Given the description of an element on the screen output the (x, y) to click on. 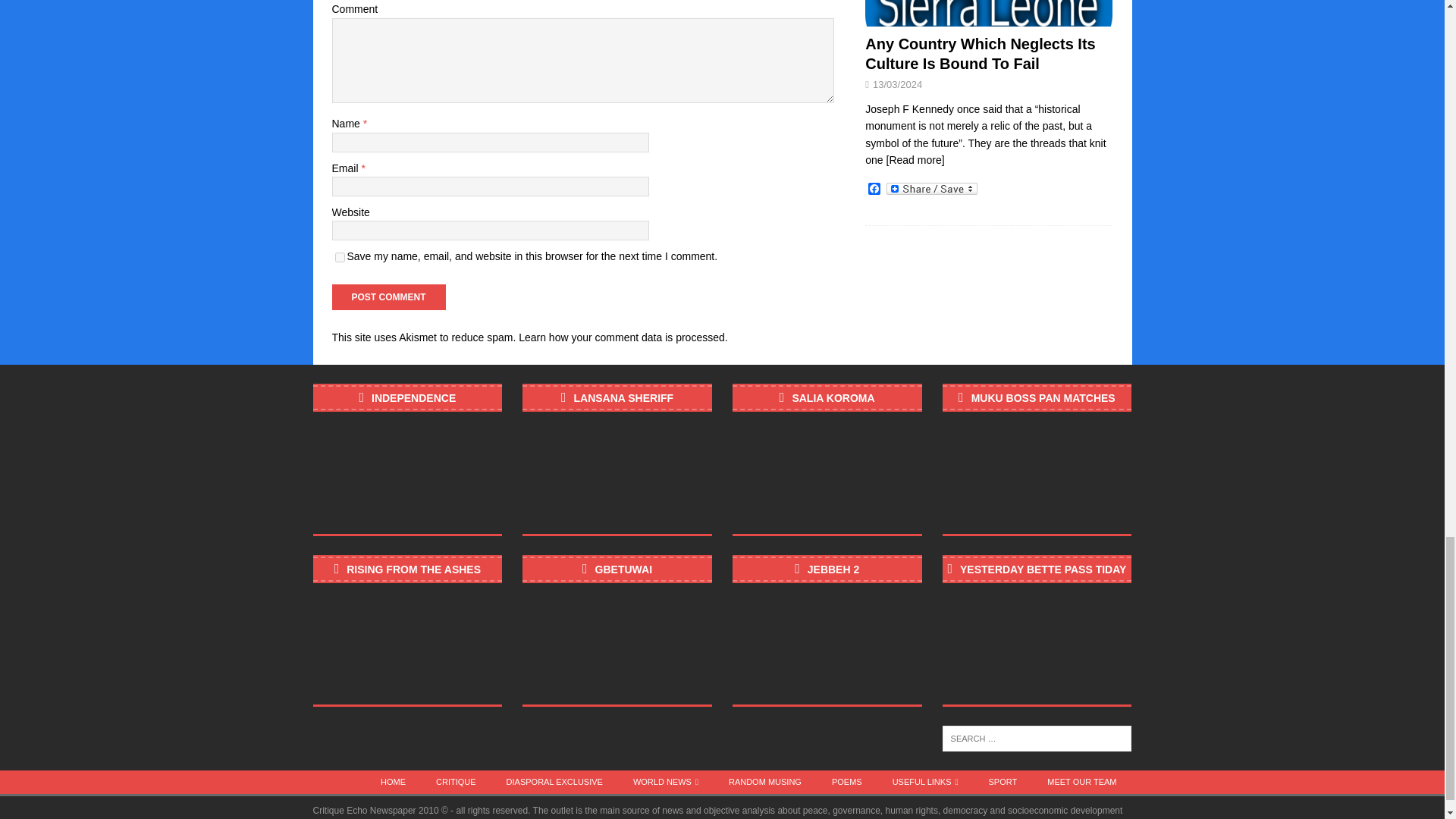
Post Comment (388, 297)
yes (339, 257)
